Given the description of an element on the screen output the (x, y) to click on. 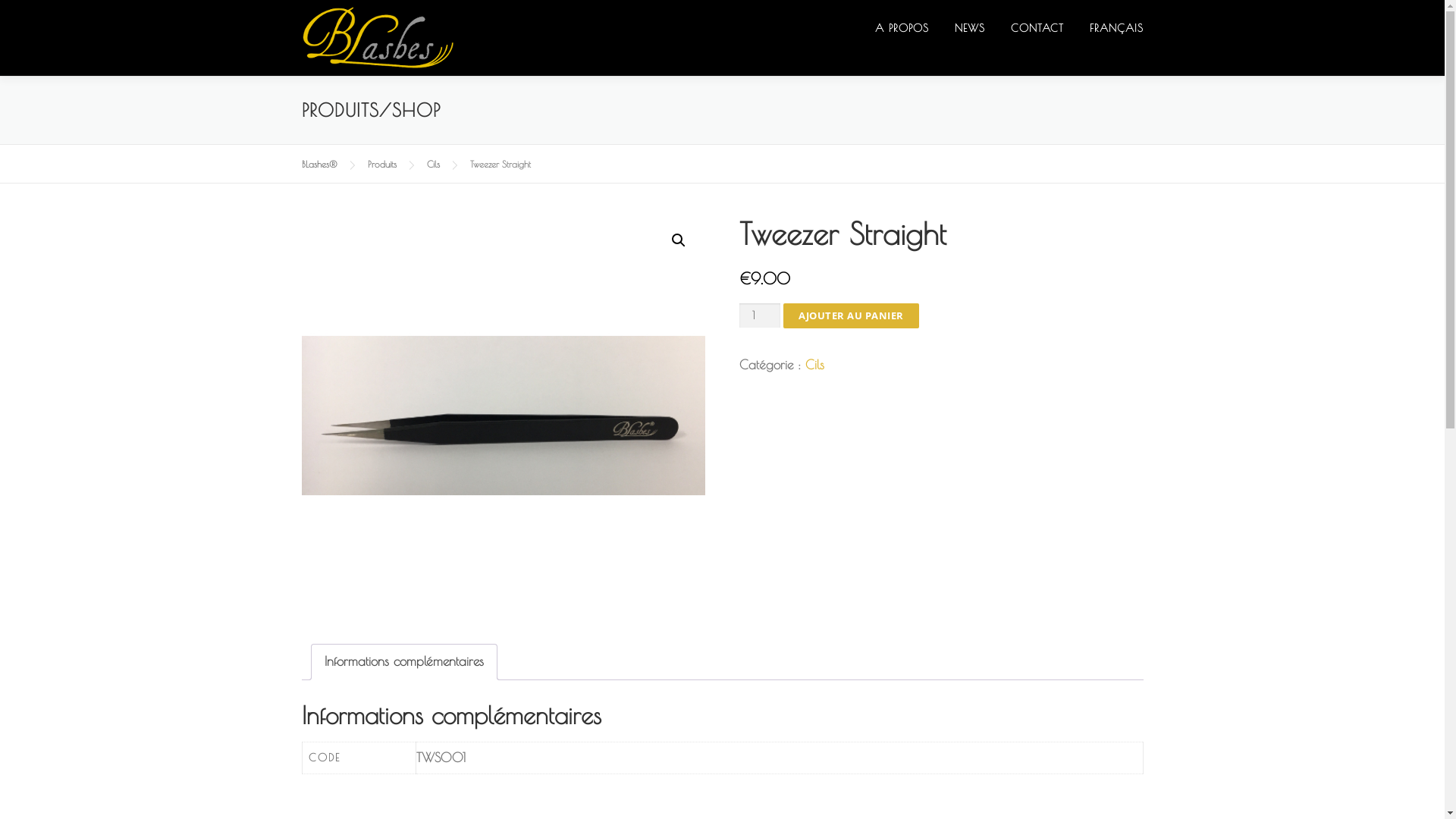
CONTACT Element type: text (1036, 28)
Cils Element type: text (814, 364)
IMG_1555_500x500 Element type: hover (503, 415)
Cils Element type: text (432, 163)
AJOUTER AU PANIER Element type: text (851, 315)
A PROPOS Element type: text (901, 28)
Produits Element type: text (381, 163)
NEWS Element type: text (969, 28)
